Given the description of an element on the screen output the (x, y) to click on. 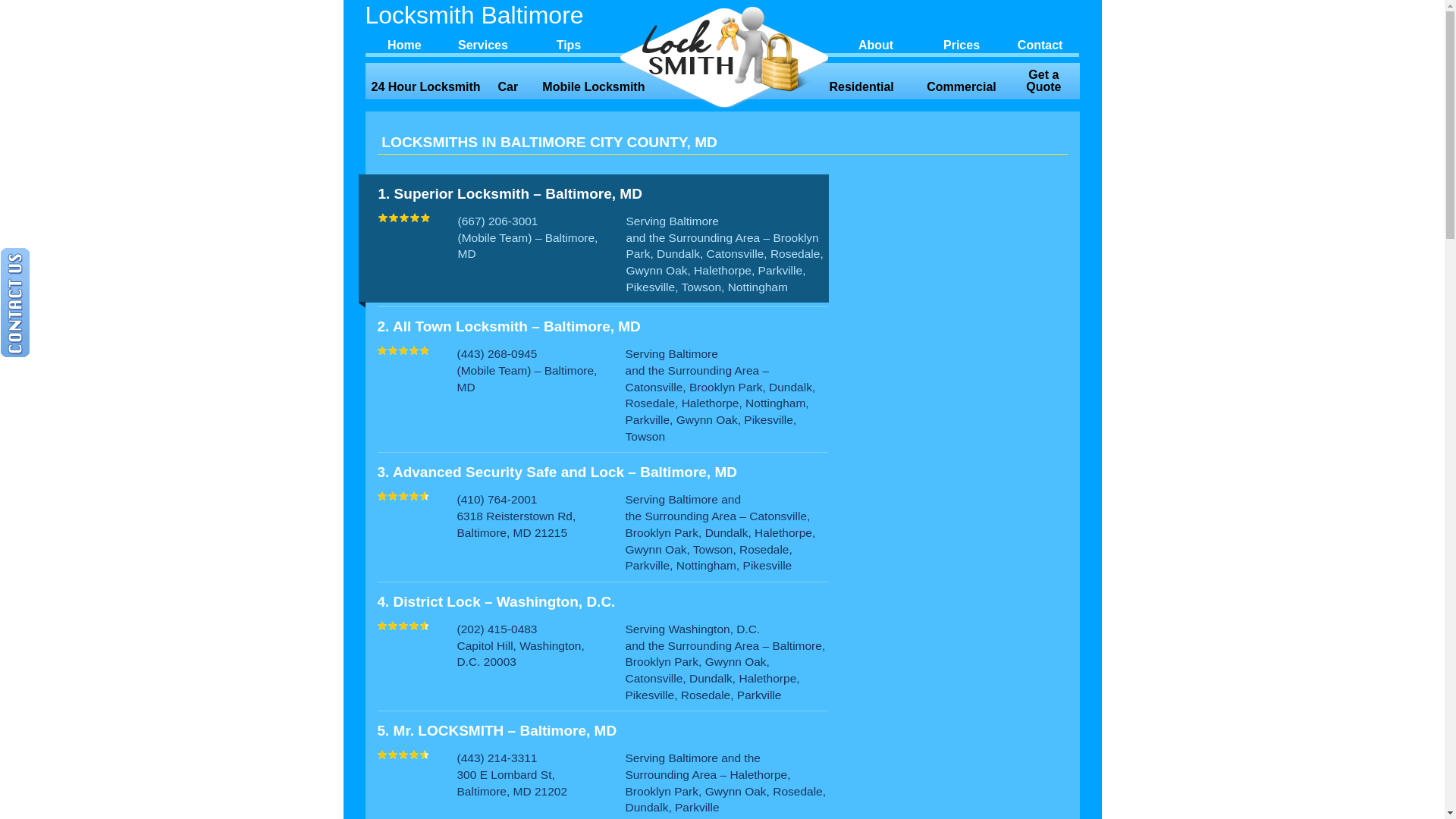
Residential Element type: text (860, 87)
Tips Element type: text (568, 43)
Locksmith Baltimore Element type: text (490, 15)
(202) 415-0483 Element type: text (496, 628)
24 Hour Locksmith Element type: text (425, 87)
Home Element type: text (404, 43)
Mobile Locksmith Element type: text (593, 87)
About Element type: text (875, 43)
Commercial Element type: text (961, 87)
Services Element type: text (482, 43)
(443) 268-0945 Element type: text (496, 353)
Locksmith Baltimore, Maryland Element type: hover (722, 56)
Contact Element type: text (1040, 43)
Prices Element type: text (961, 43)
Car Element type: text (508, 87)
(443) 214-3311 Element type: text (496, 757)
Get a Quote Element type: text (1043, 80)
(410) 764-2001 Element type: text (496, 498)
(667) 206-3001 Element type: text (498, 220)
